Given the description of an element on the screen output the (x, y) to click on. 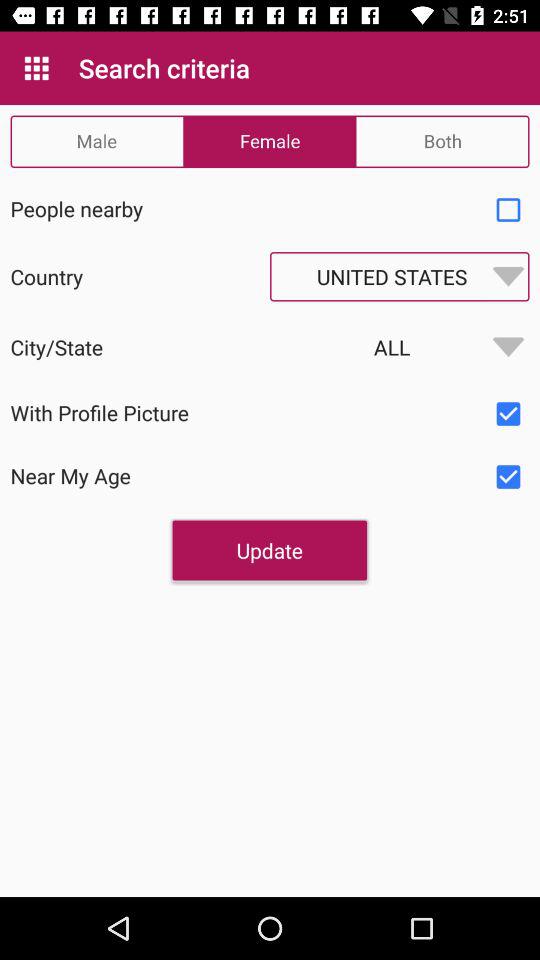
press item at the center (269, 549)
